Given the description of an element on the screen output the (x, y) to click on. 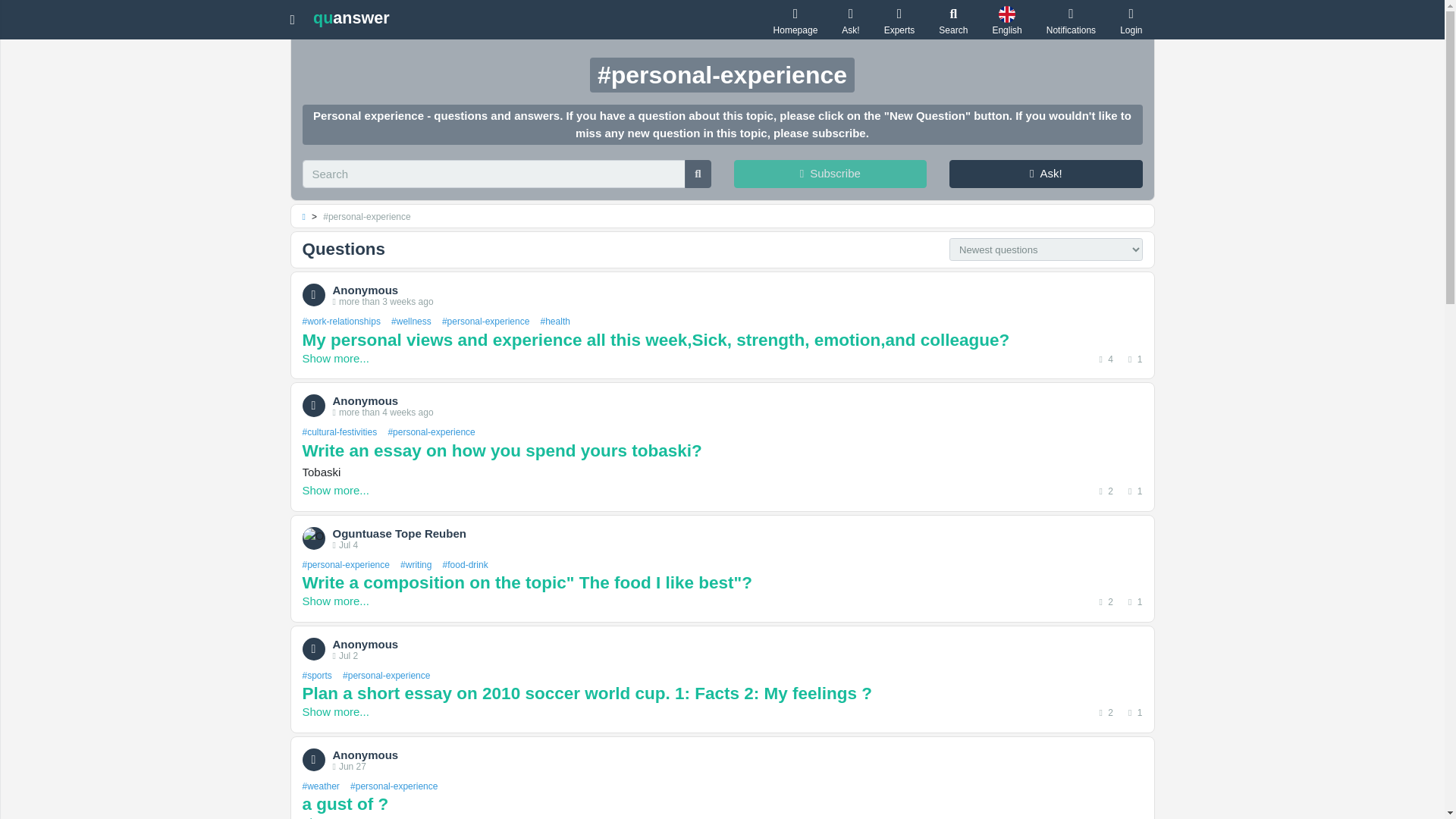
Search (953, 19)
English (1006, 19)
Notifications (1071, 19)
Subscribe (830, 173)
Show more... (334, 358)
Write a composition on the topic" The food I like best"? (721, 582)
Write an essay on how you spend yours tobaski? (721, 450)
Experts (899, 19)
Ask! (1045, 173)
Homepage (795, 19)
